Given the description of an element on the screen output the (x, y) to click on. 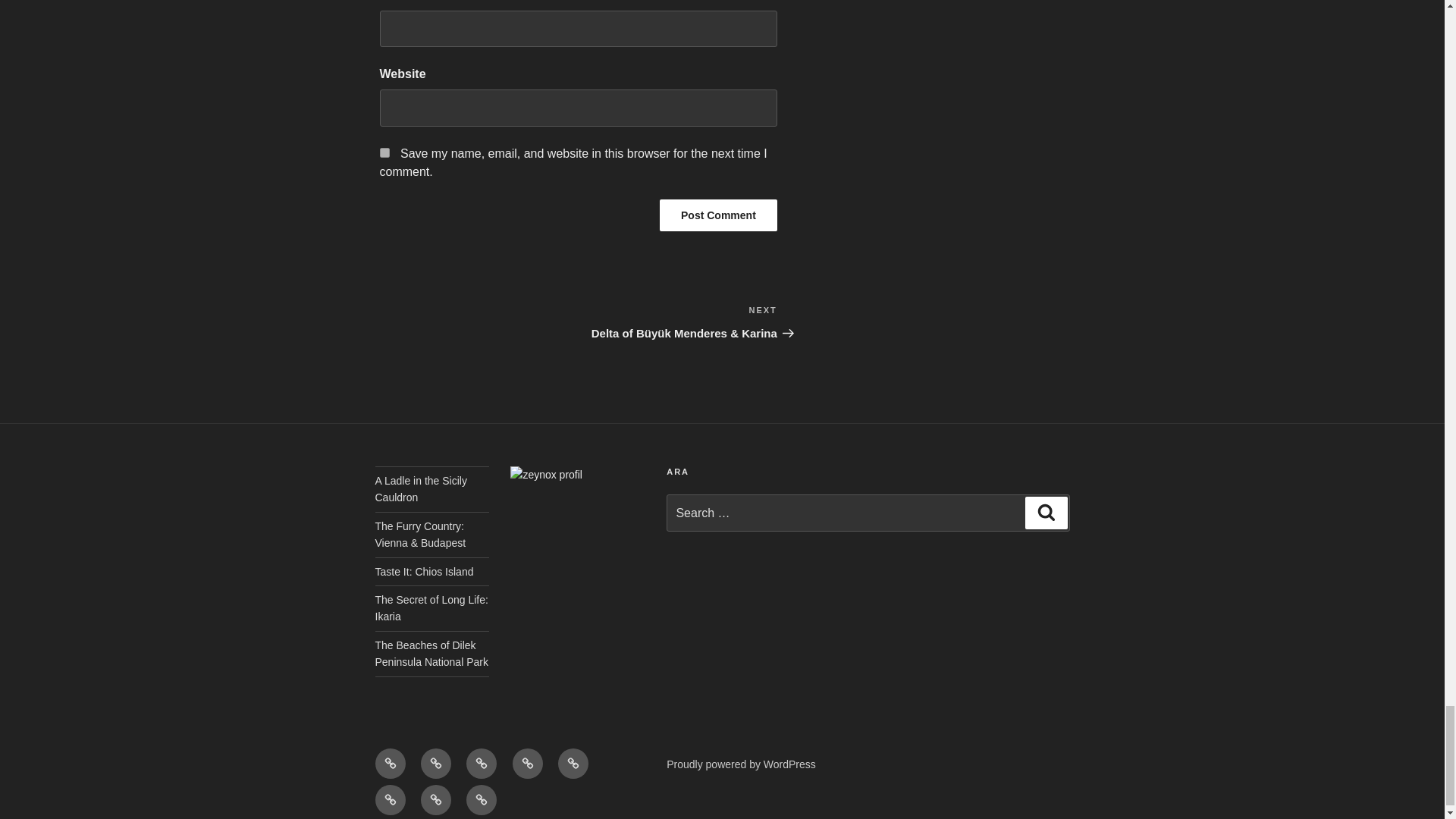
The Secret of Long Life: Ikaria (430, 607)
Search (1046, 512)
The Beaches of Dilek Peninsula National Park (430, 653)
Post Comment (718, 214)
A Ladle in the Sicily Cauldron (419, 489)
Taste It: Chios Island (423, 571)
yes (383, 152)
identity (435, 763)
pictures (527, 763)
Post Comment (718, 214)
